Given the description of an element on the screen output the (x, y) to click on. 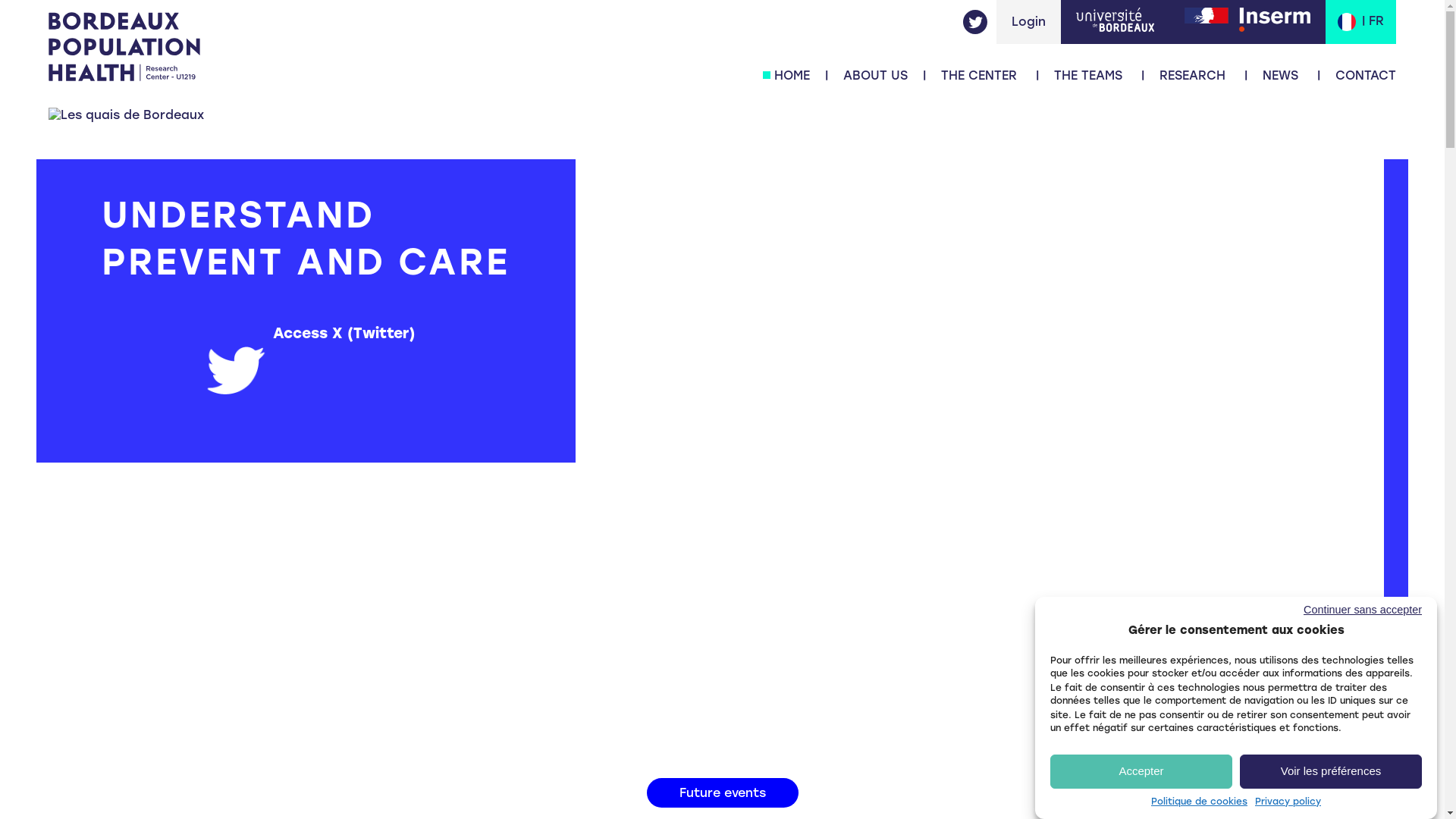
Login Element type: text (1028, 21)
CONTACT Element type: text (1365, 75)
Future events Element type: text (721, 792)
Continuer sans accepter Element type: text (1220, 610)
Politique de cookies Element type: text (1199, 801)
Accepter Element type: text (1141, 770)
THE TEAMS Element type: text (1087, 75)
Privacy policy Element type: text (1288, 801)
NEWS Element type: text (1280, 75)
ABOUT US Element type: text (875, 75)
RESEARCH Element type: text (1192, 75)
THE CENTER Element type: text (978, 75)
Access X (Twitter) Element type: text (351, 332)
| FR Element type: text (1360, 21)
HOME Element type: text (792, 75)
